Given the description of an element on the screen output the (x, y) to click on. 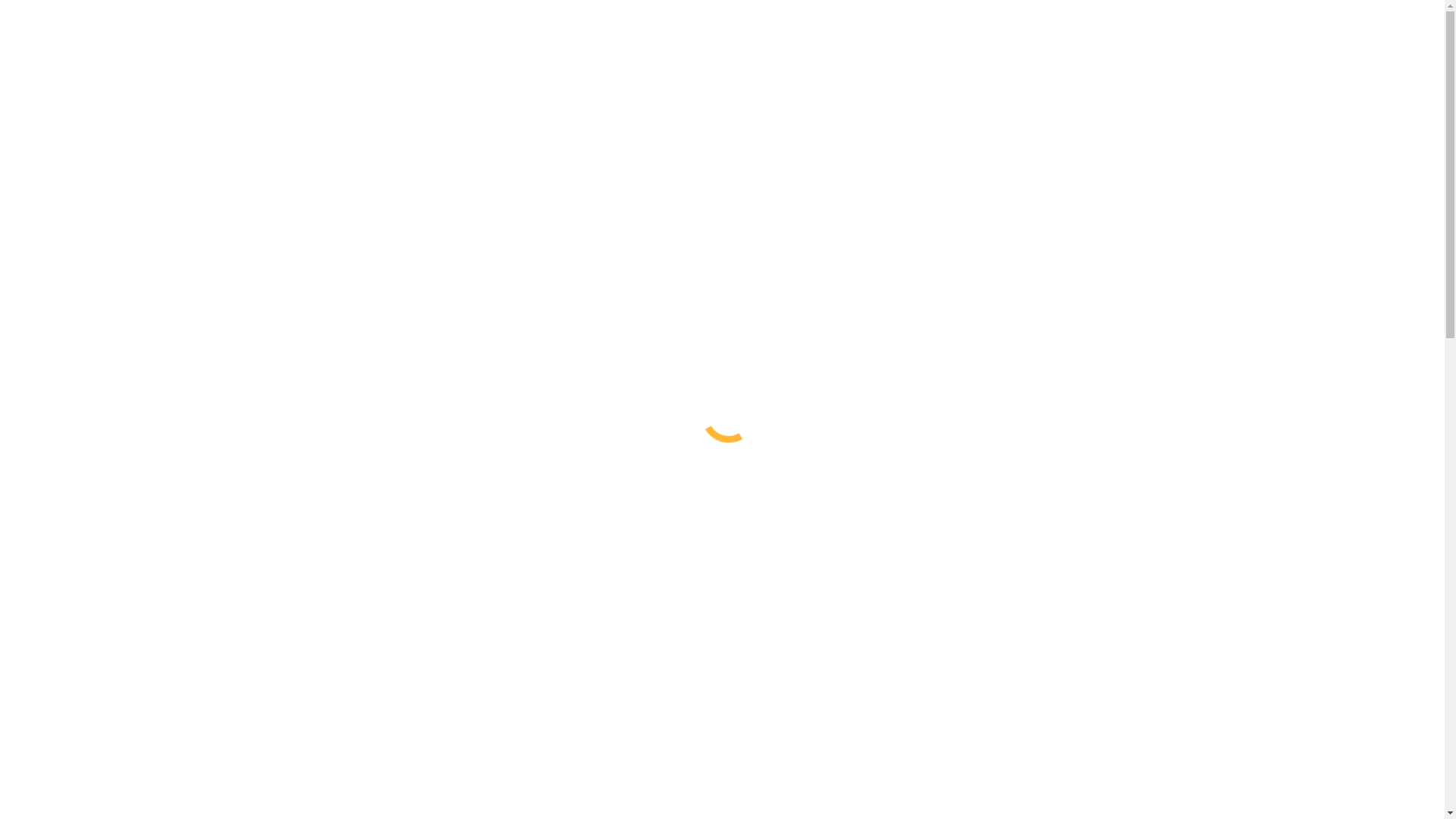
(07) 4952 6057 Element type: text (80, 111)
Home Element type: text (53, 294)
(07) 4952 6057 Element type: text (472, 25)
About Element type: text (53, 156)
Our Services Element type: text (69, 169)
Skip to content Element type: text (42, 12)
SEARCH Element type: text (29, 236)
About Element type: text (53, 307)
CQ Glass Screens & Tinting Element type: text (722, 764)
(07) 4952 6057 Element type: text (65, 663)
Go! Element type: text (20, 268)
Testimonials Element type: text (69, 348)
Home Element type: text (49, 451)
Contact Us Element type: text (65, 335)
Search form Element type: hover (73, 252)
Home Element type: text (53, 142)
Our Services Element type: text (69, 321)
Testimonials Element type: text (69, 197)
Contact Us Element type: text (65, 183)
Facebook page opens in new window Element type: text (97, 39)
